Given the description of an element on the screen output the (x, y) to click on. 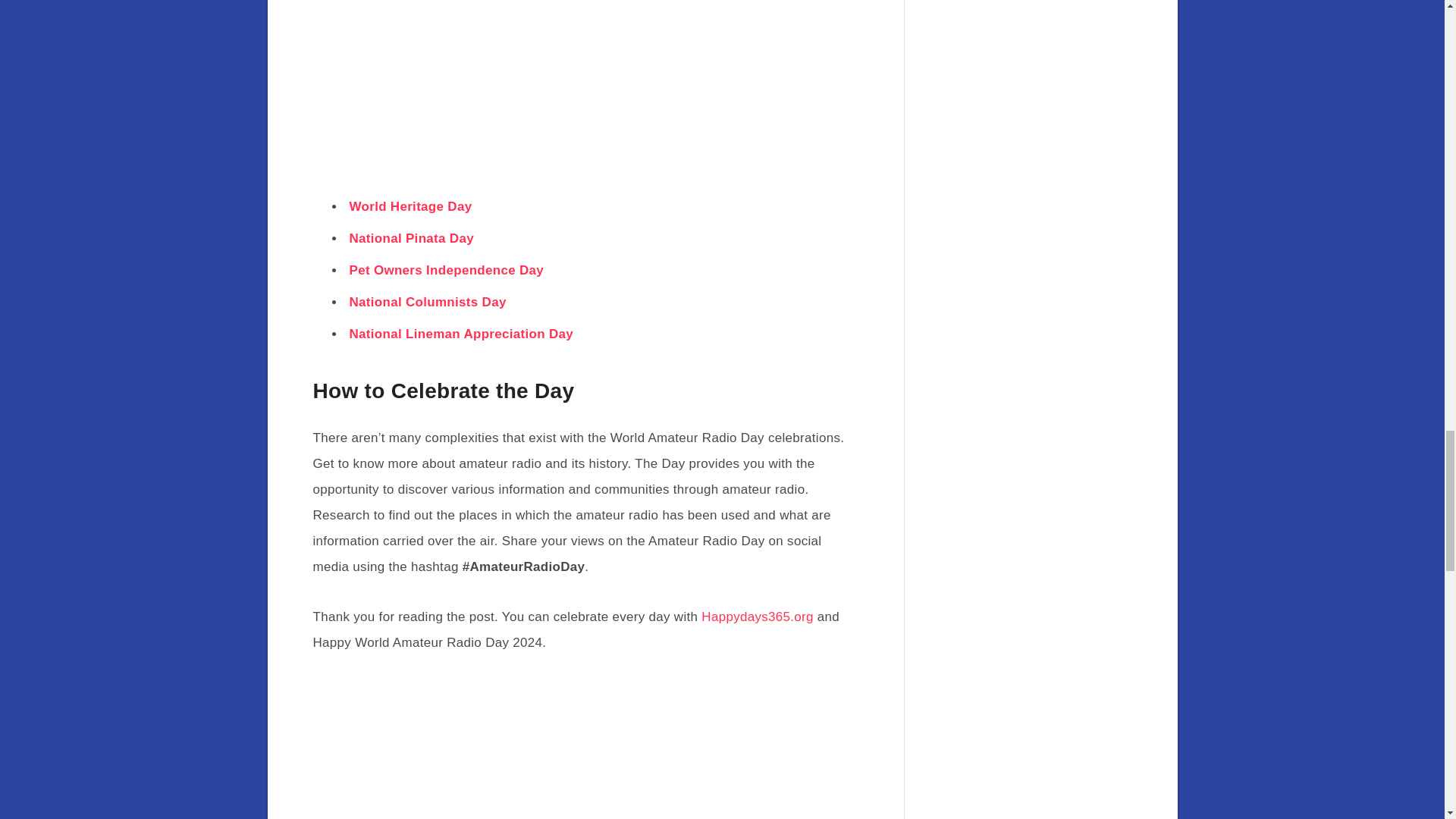
National Pinata Day (411, 237)
Happydays365.org (757, 616)
World Heritage Day (410, 206)
National Lineman Appreciation Day (461, 333)
Pet Owners Independence Day (446, 269)
National Columnists Day (427, 301)
